Given the description of an element on the screen output the (x, y) to click on. 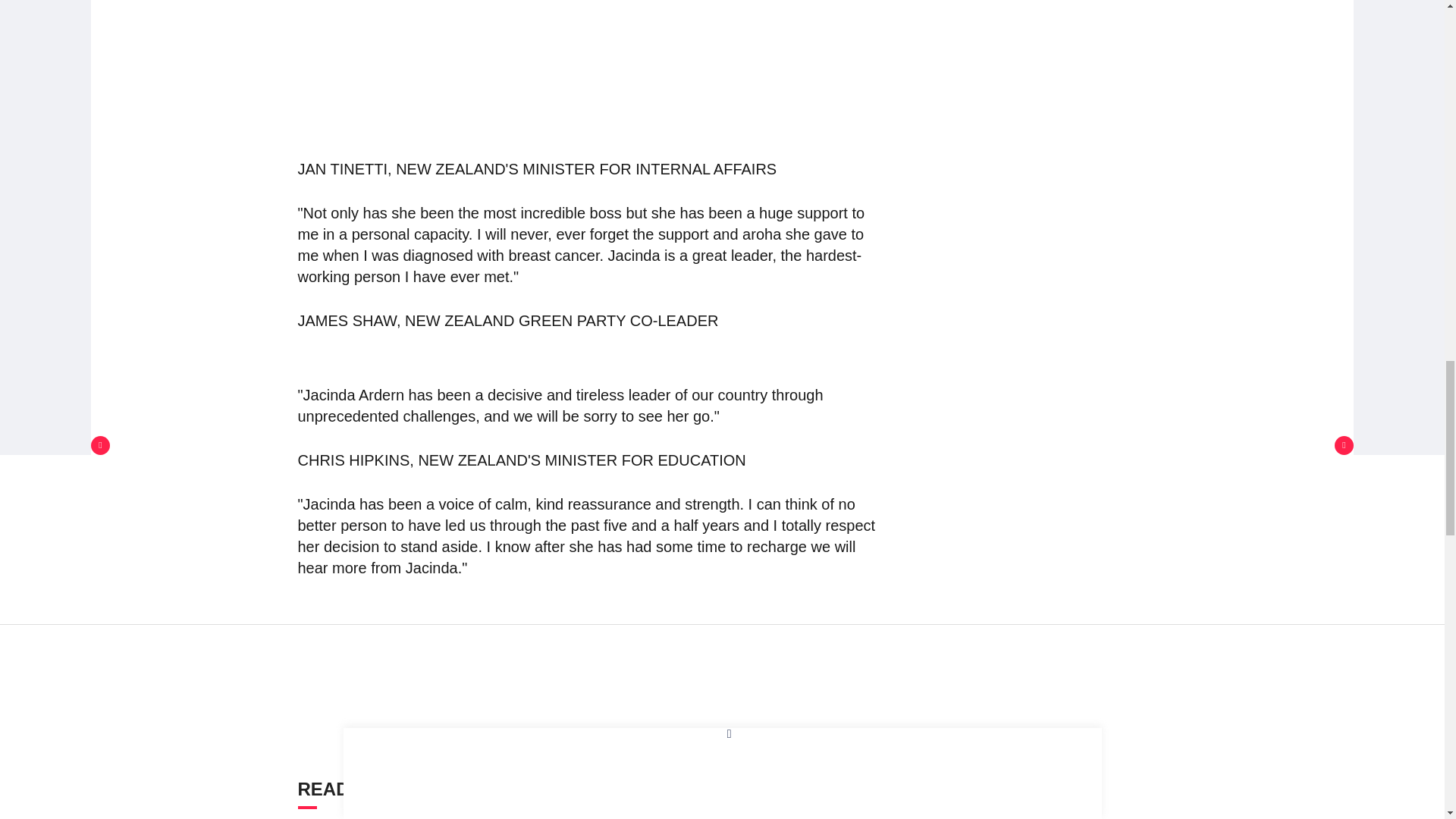
3rd party ad content (592, 52)
3rd party ad content (722, 689)
